Given the description of an element on the screen output the (x, y) to click on. 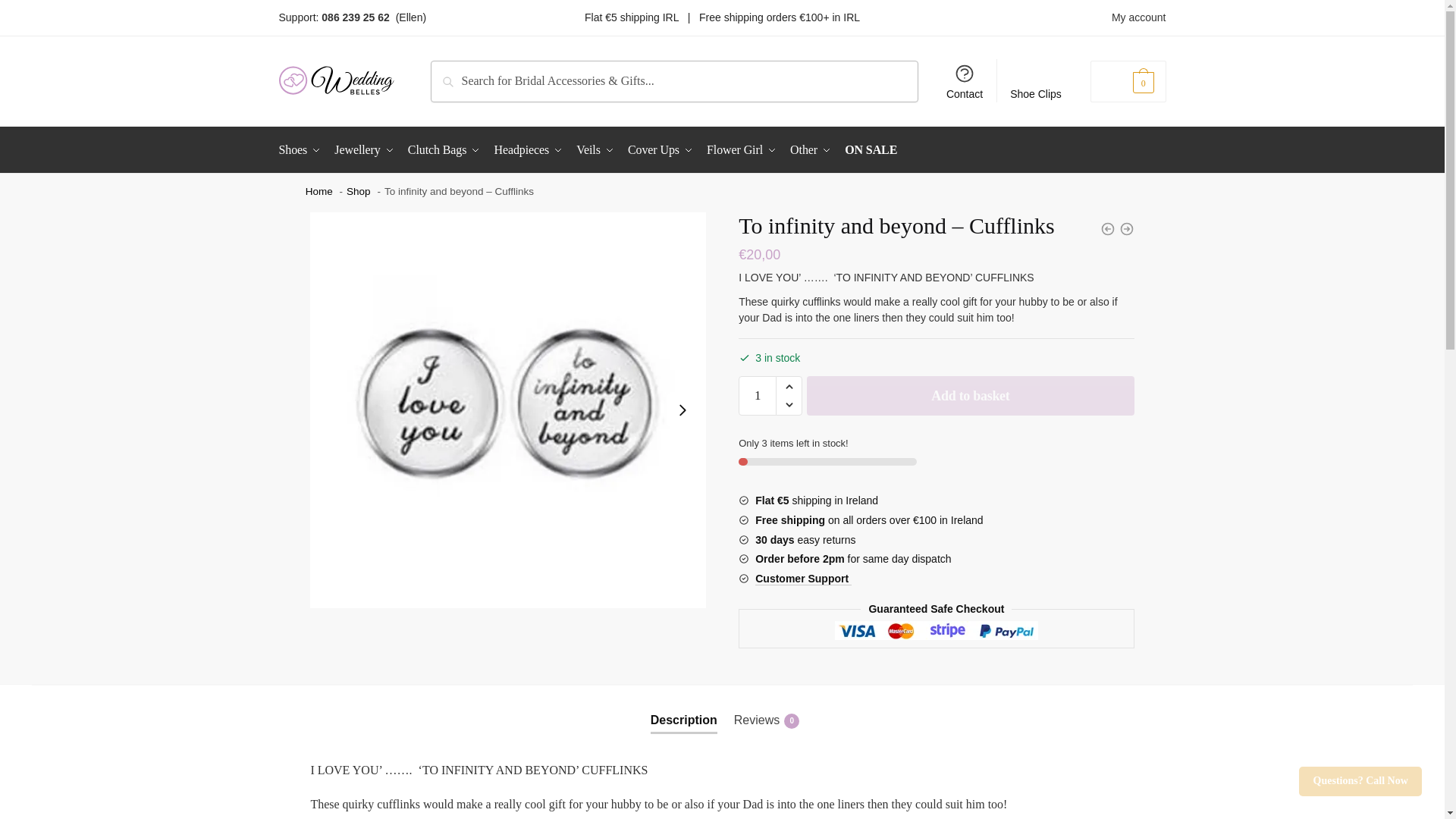
Contact (964, 80)
086 239 25 62 (355, 17)
Jewellery (365, 149)
Search (451, 70)
Shoe Clips (1035, 80)
View your shopping cart (1128, 81)
1 (757, 395)
Shoes (304, 149)
My account (1139, 16)
